Given the description of an element on the screen output the (x, y) to click on. 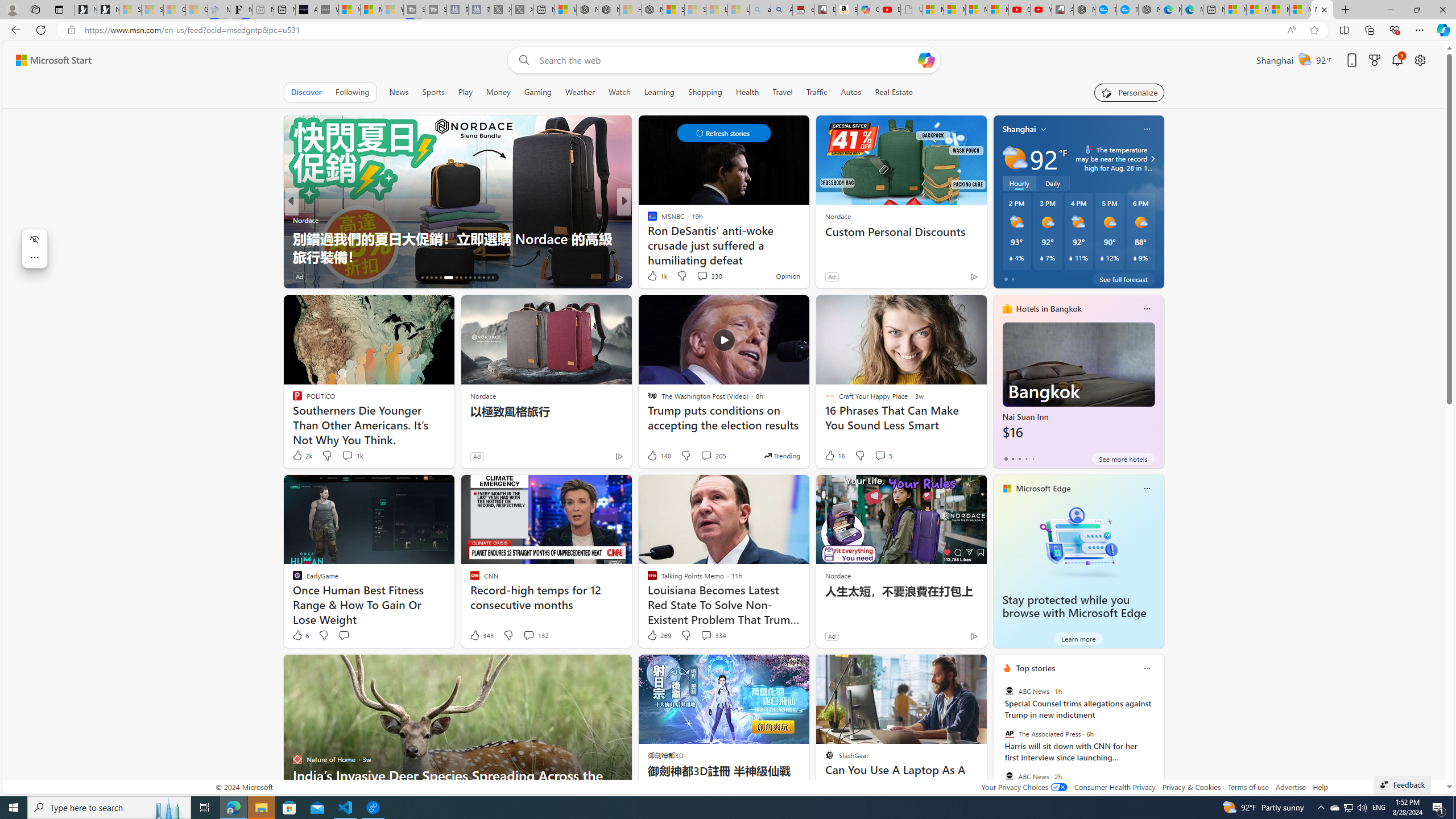
See more hotels (1123, 459)
View comments 2 Comment (698, 276)
18 Like (652, 276)
View comments 353 Comment (703, 276)
Your Privacy Choices (1024, 786)
next (1158, 741)
View comments 334 Comment (712, 634)
View comments 2 Comment (702, 276)
